Given the description of an element on the screen output the (x, y) to click on. 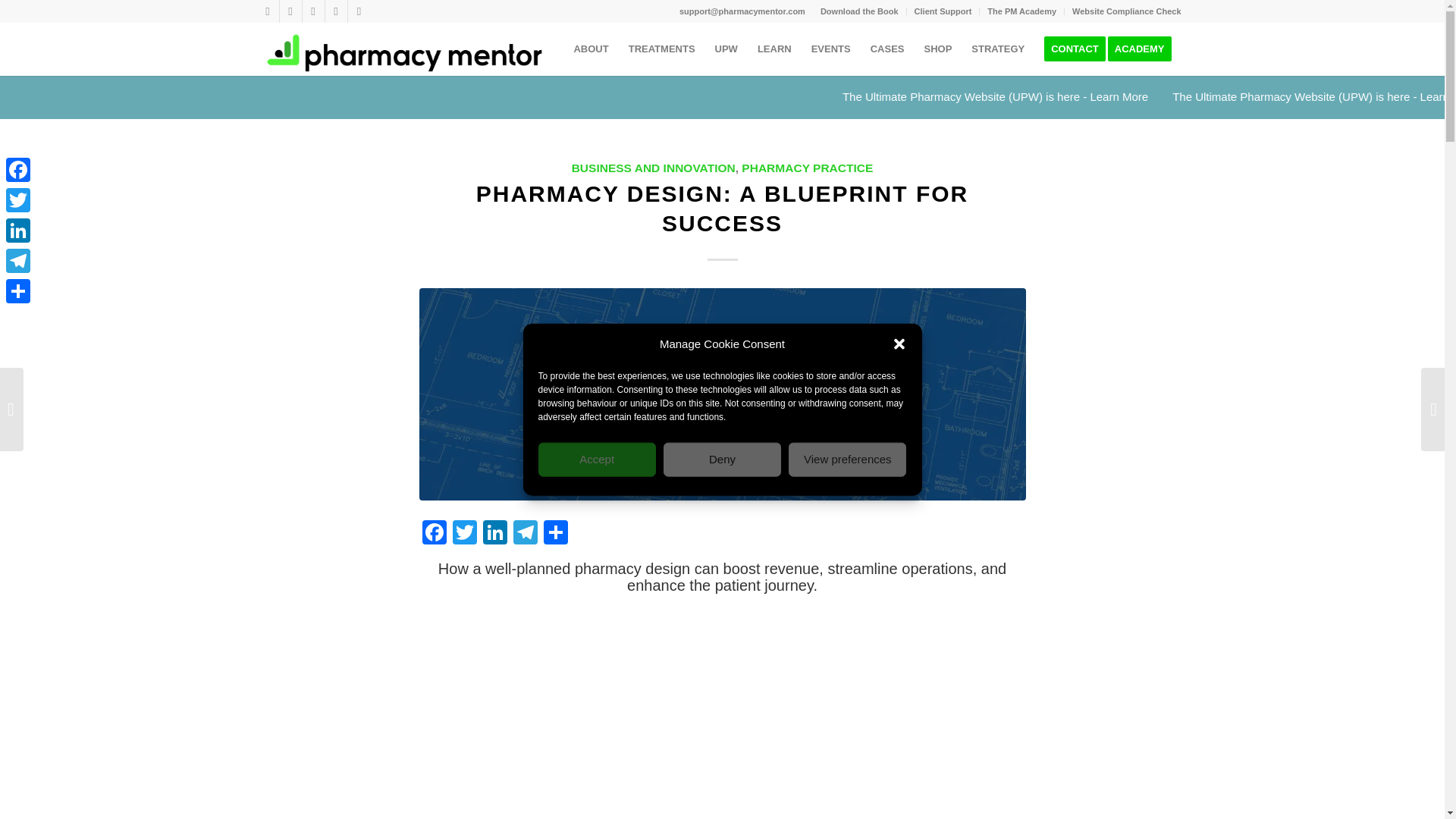
Accept (597, 458)
LinkedIn (335, 11)
Client Support (943, 11)
Download the Book (859, 11)
The PM Academy (1022, 11)
Twitter (290, 11)
Instagram (358, 11)
View preferences (847, 458)
Deny (721, 458)
Website Compliance Check (1125, 11)
ABOUT (590, 49)
Facebook (267, 11)
Youtube (312, 11)
TREATMENTS (661, 49)
